Given the description of an element on the screen output the (x, y) to click on. 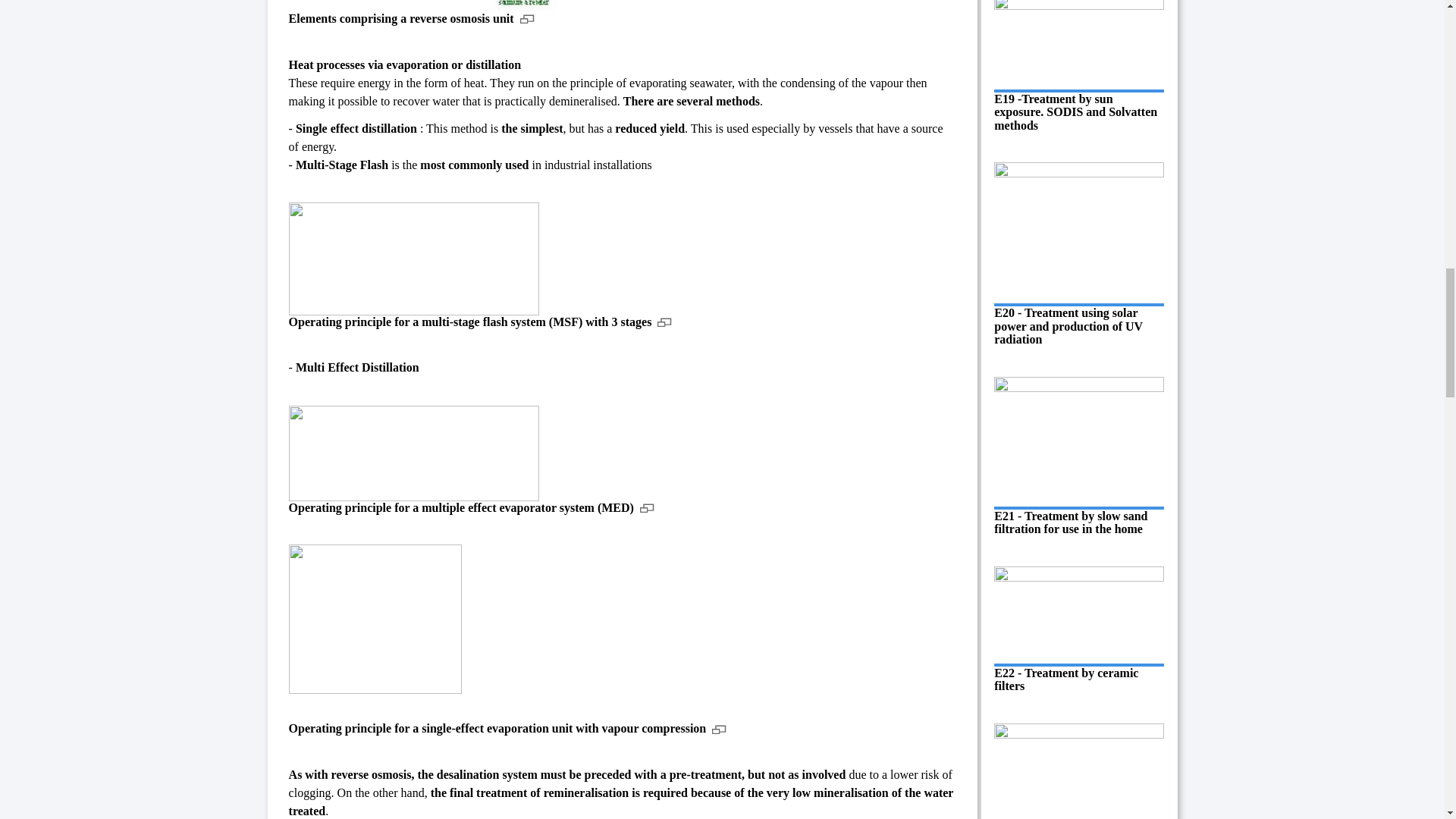
Agrandir (647, 507)
Agrandir (719, 727)
Agrandir (664, 321)
Agrandir (526, 18)
